Given the description of an element on the screen output the (x, y) to click on. 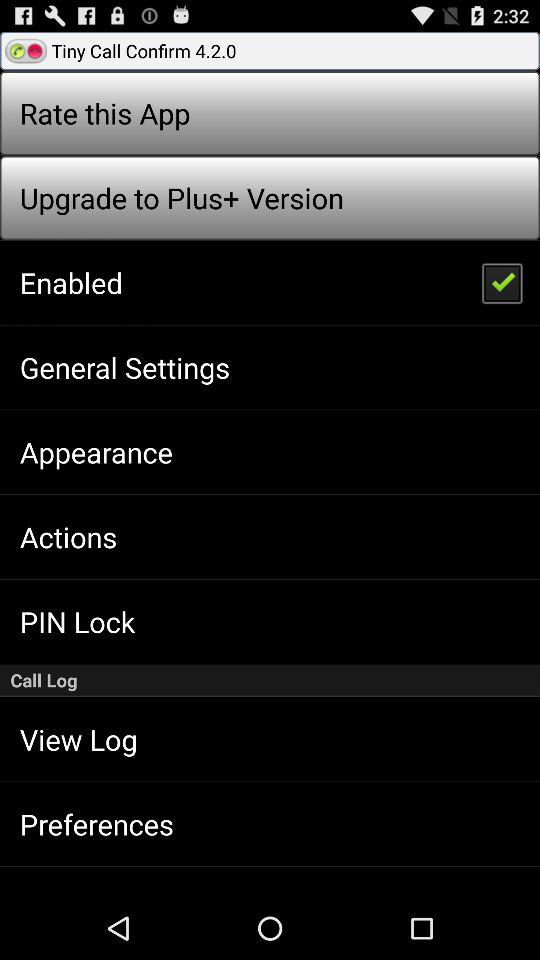
turn on the icon above the general settings icon (70, 282)
